Given the description of an element on the screen output the (x, y) to click on. 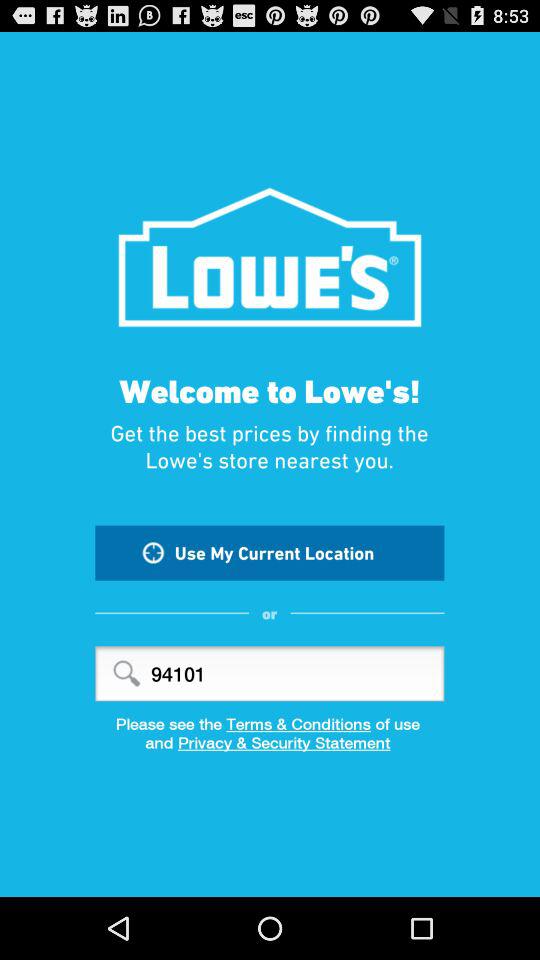
open icon above the please see the (269, 673)
